Given the description of an element on the screen output the (x, y) to click on. 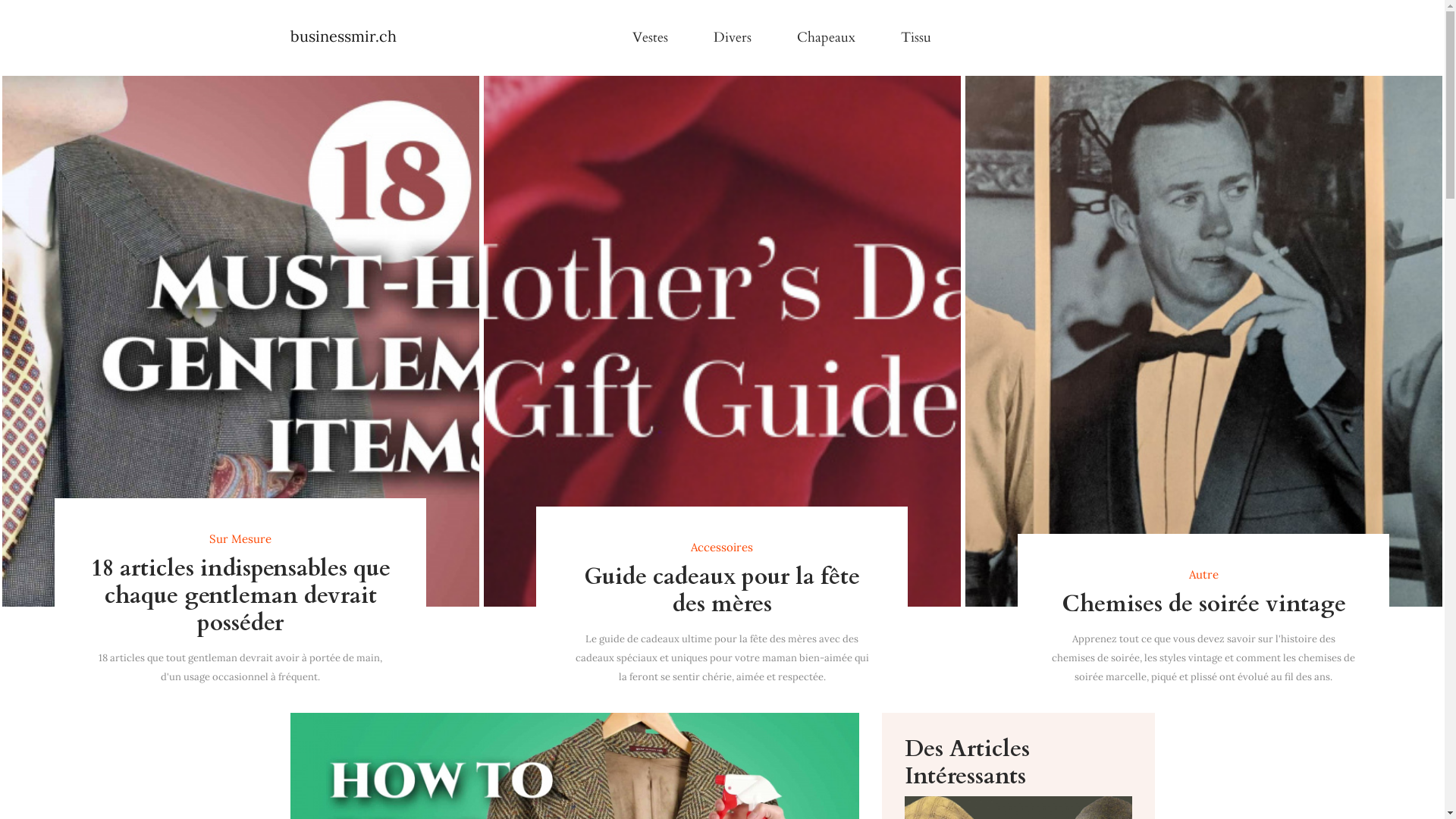
Vestes Element type: text (649, 37)
Autre Element type: text (1203, 574)
Tissu Element type: text (915, 37)
Sur Mesure Element type: text (240, 539)
Divers Element type: text (731, 37)
businessmir.ch Element type: text (342, 37)
Accessoires Element type: text (721, 547)
Chapeaux Element type: text (825, 37)
